Given the description of an element on the screen output the (x, y) to click on. 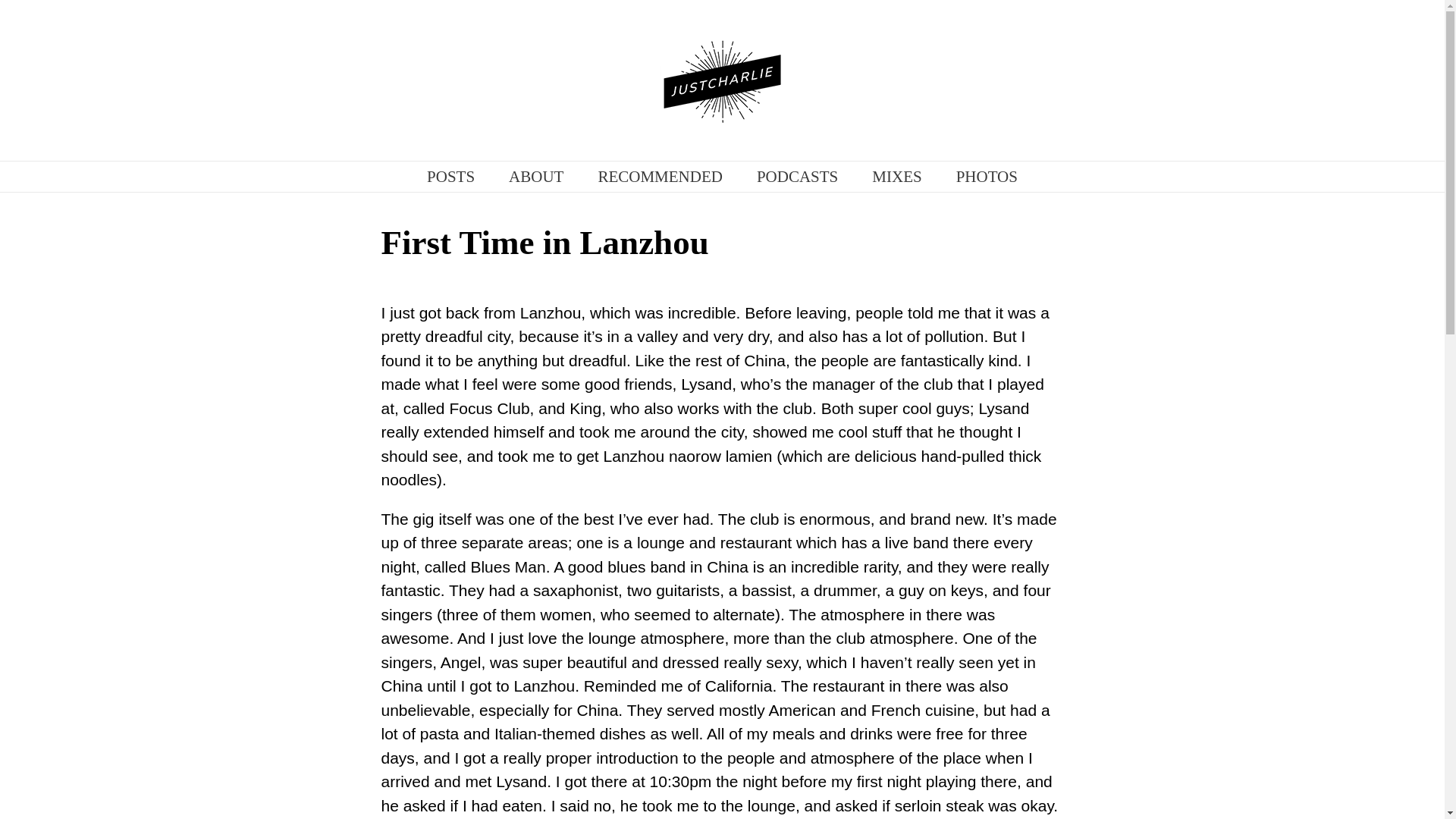
RECOMMENDED (659, 176)
POSTS (450, 176)
PODCASTS (797, 176)
MIXES (896, 176)
ABOUT (535, 176)
PHOTOS (986, 176)
